Given the description of an element on the screen output the (x, y) to click on. 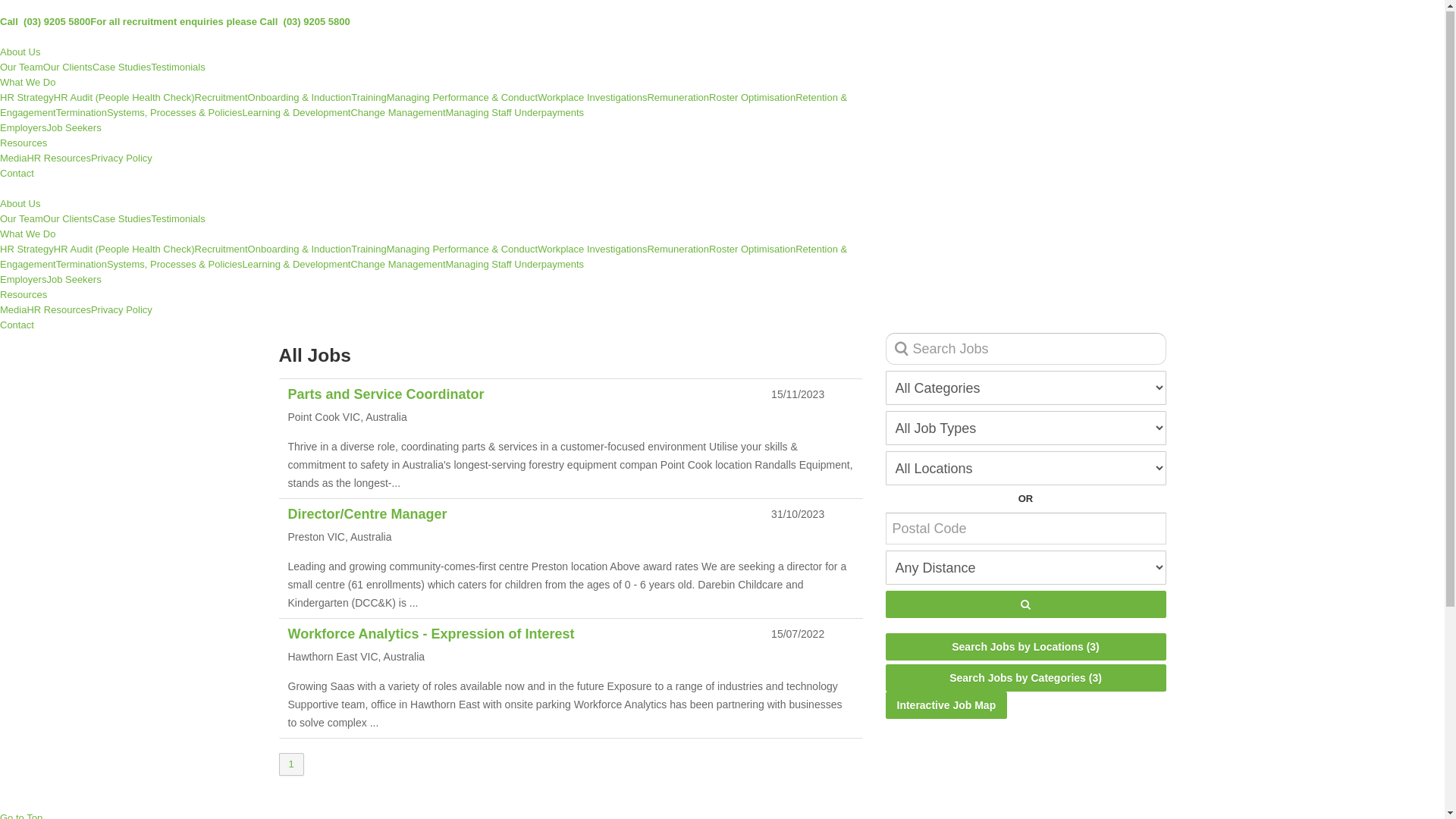
Roster Optimisation Element type: text (752, 97)
Call  (03) 9205 5800 Element type: text (45, 22)
Contact Element type: text (17, 325)
HR Resources Element type: text (58, 158)
Managing Staff Underpayments Element type: text (514, 113)
Media Element type: text (13, 158)
HR Resources Element type: text (58, 310)
Case Studies Element type: text (121, 219)
Media Element type: text (13, 310)
Learning & Development Element type: text (295, 113)
Roster Optimisation Element type: text (752, 249)
Termination Element type: text (81, 113)
Retention & Engagement Element type: text (423, 257)
HR Audit (People Health Check) Element type: text (123, 249)
Systems, Processes & Policies Element type: text (173, 113)
Workplace Investigations Element type: text (591, 249)
Testimonials Element type: text (177, 67)
Privacy Policy Element type: text (121, 158)
Retention & Engagement Element type: text (423, 105)
Resources Element type: text (23, 143)
Our Clients Element type: text (67, 219)
Remuneration Element type: text (677, 97)
Training Element type: text (368, 249)
Our Clients Element type: text (67, 67)
Onboarding & Induction Element type: text (299, 97)
About Us Element type: text (20, 204)
HR Audit (People Health Check) Element type: text (123, 97)
Search Jobs by Locations (3) Element type: text (1025, 647)
Managing Staff Underpayments Element type: text (514, 264)
Change Management Element type: text (397, 113)
Privacy Policy Element type: text (121, 310)
Testimonials Element type: text (177, 219)
Learning & Development Element type: text (295, 264)
HR Strategy Element type: text (26, 249)
Change Management Element type: text (397, 264)
Contact Element type: text (17, 173)
Managing Performance & Conduct Element type: text (461, 249)
Employers Element type: text (23, 279)
Our Team Element type: text (21, 67)
Job Seekers Element type: text (73, 279)
HR Strategy Element type: text (26, 97)
Termination Element type: text (81, 264)
Case Studies Element type: text (121, 67)
Workplace Investigations Element type: text (591, 97)
What We Do Element type: text (27, 82)
Our Team Element type: text (21, 219)
1 Element type: text (291, 764)
Recruitment Element type: text (220, 249)
Managing Performance & Conduct Element type: text (461, 97)
Remuneration Element type: text (677, 249)
Interactive Job Map Element type: text (946, 705)
What We Do Element type: text (27, 234)
Systems, Processes & Policies Element type: text (173, 264)
Resources Element type: text (23, 295)
Recruitment Element type: text (220, 97)
Search Jobs by Categories (3) Element type: text (1025, 678)
For all recruitment enquiries please Call  (03) 9205 5800 Element type: text (220, 22)
Job Seekers Element type: text (73, 128)
Training Element type: text (368, 97)
Onboarding & Induction Element type: text (299, 249)
About Us Element type: text (20, 52)
Employers Element type: text (23, 128)
